Given the description of an element on the screen output the (x, y) to click on. 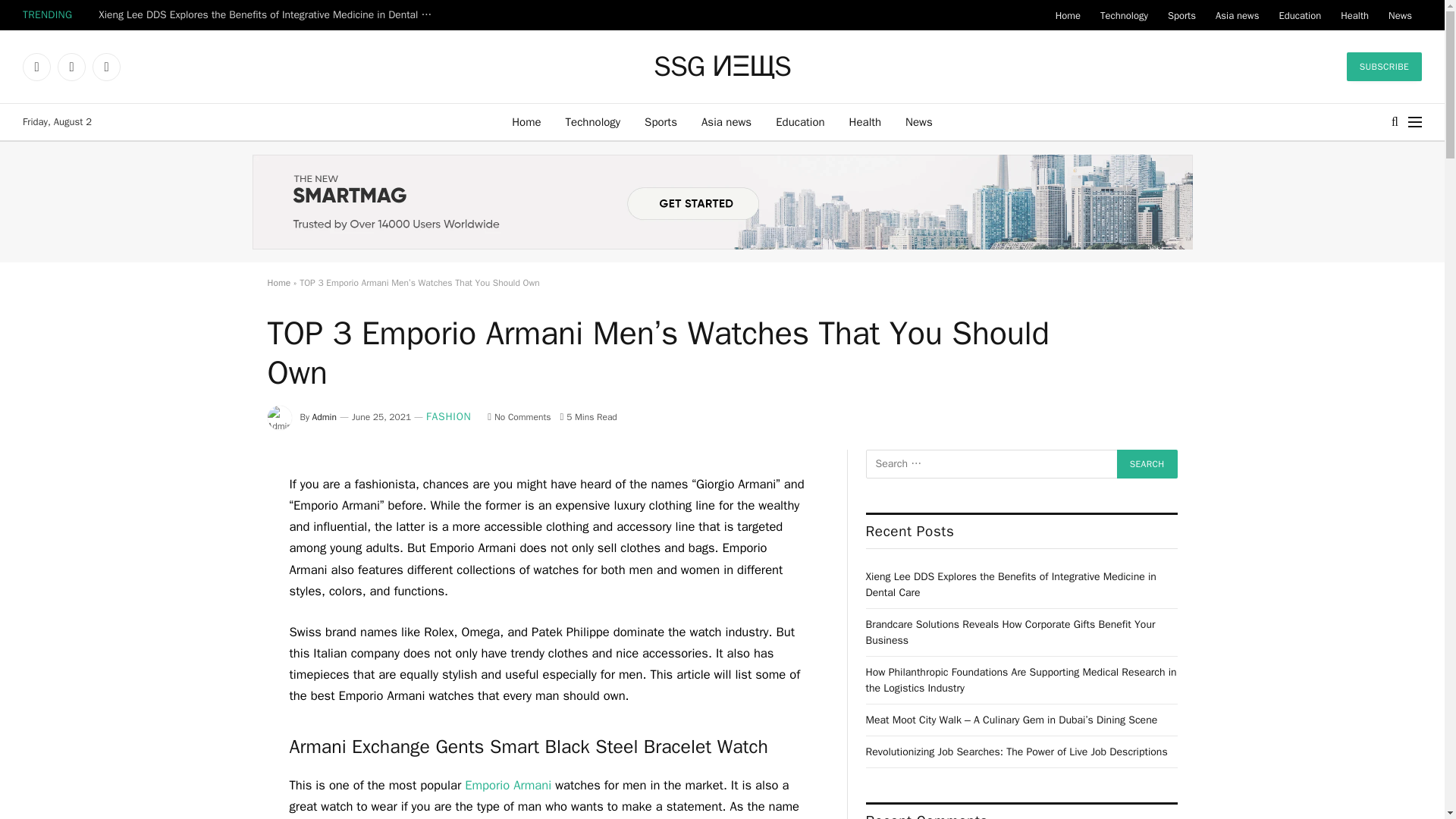
Home (526, 122)
News (1400, 15)
Home (1067, 15)
Asia news (1236, 15)
Education (798, 122)
Instagram (106, 67)
Search (1146, 463)
Facebook (36, 67)
Technology (593, 122)
Search (1146, 463)
Sports (1181, 15)
Health (1354, 15)
Technology (1123, 15)
Education (1299, 15)
Sports (659, 122)
